Given the description of an element on the screen output the (x, y) to click on. 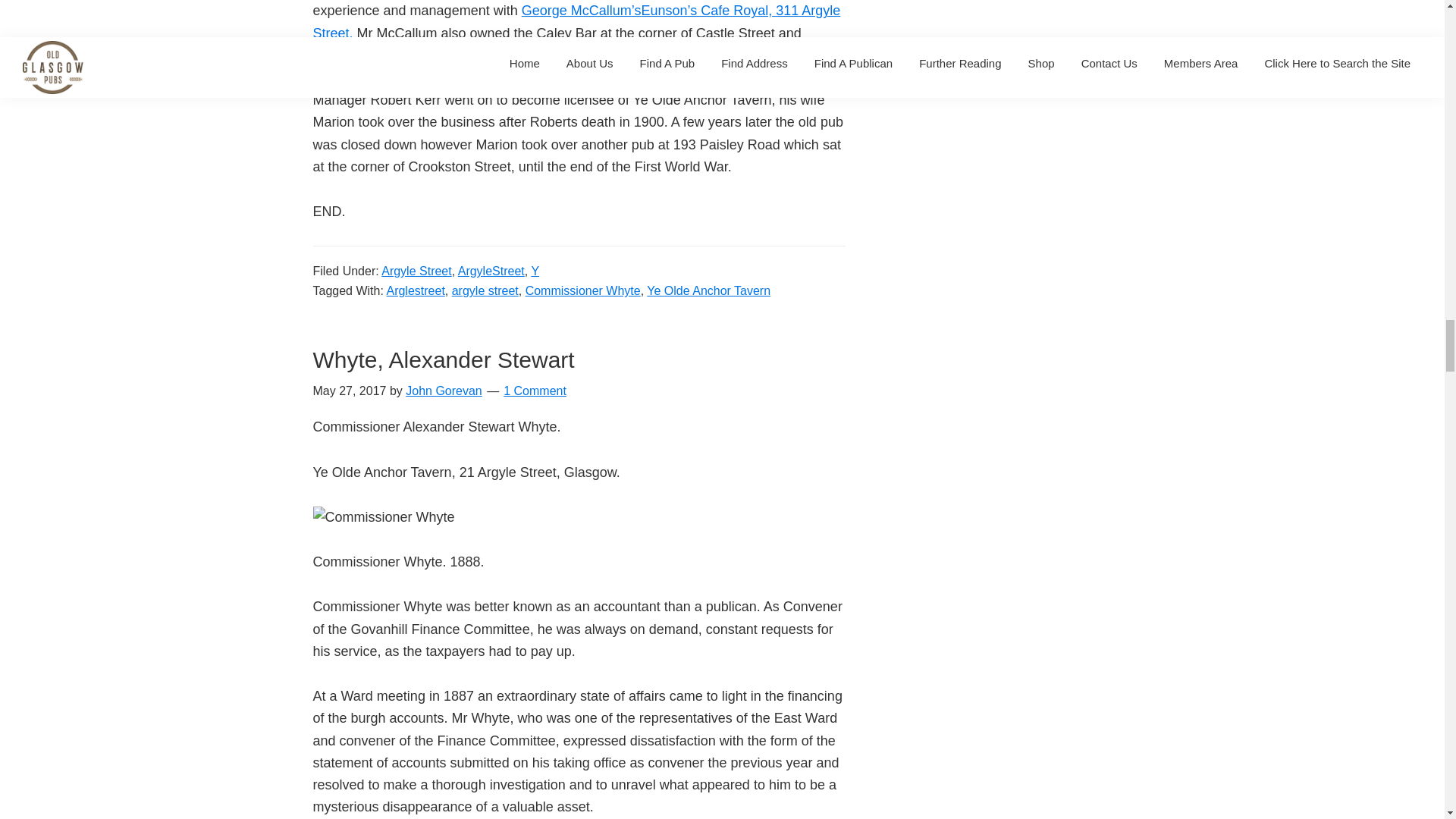
ArgyleStreet (491, 270)
argyle street (484, 290)
 Big Glen. (744, 55)
Arglestreet (414, 290)
Argyle Street (416, 270)
